Given the description of an element on the screen output the (x, y) to click on. 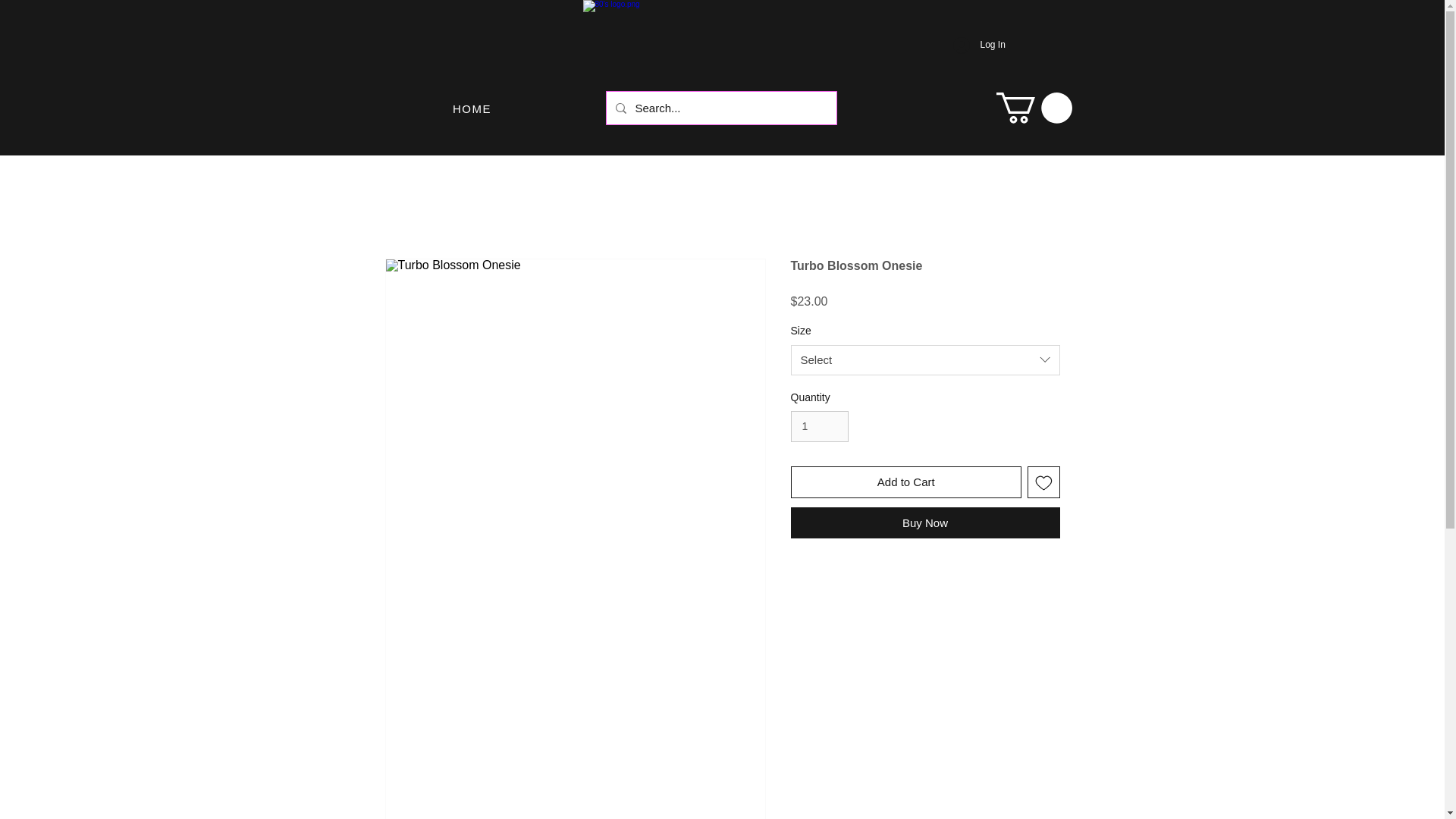
Log In (978, 44)
HOME (473, 108)
Select (924, 359)
Buy Now (924, 522)
1 (818, 426)
Add to Cart (906, 482)
